Given the description of an element on the screen output the (x, y) to click on. 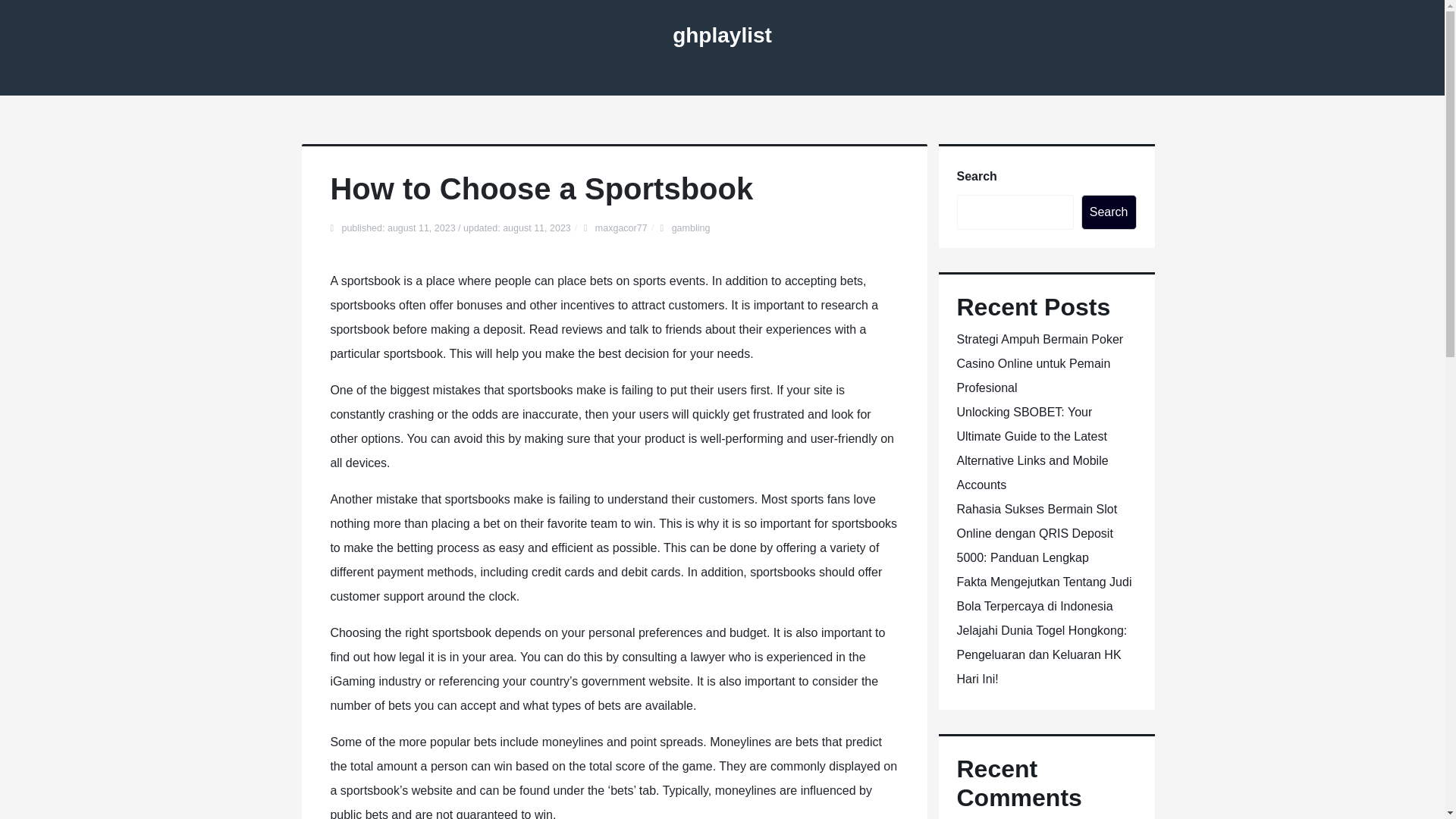
ghplaylist (721, 34)
maxgacor77 (621, 227)
Fakta Mengejutkan Tentang Judi Bola Terpercaya di Indonesia (1044, 593)
Search (1109, 212)
gambling (690, 227)
